Given the description of an element on the screen output the (x, y) to click on. 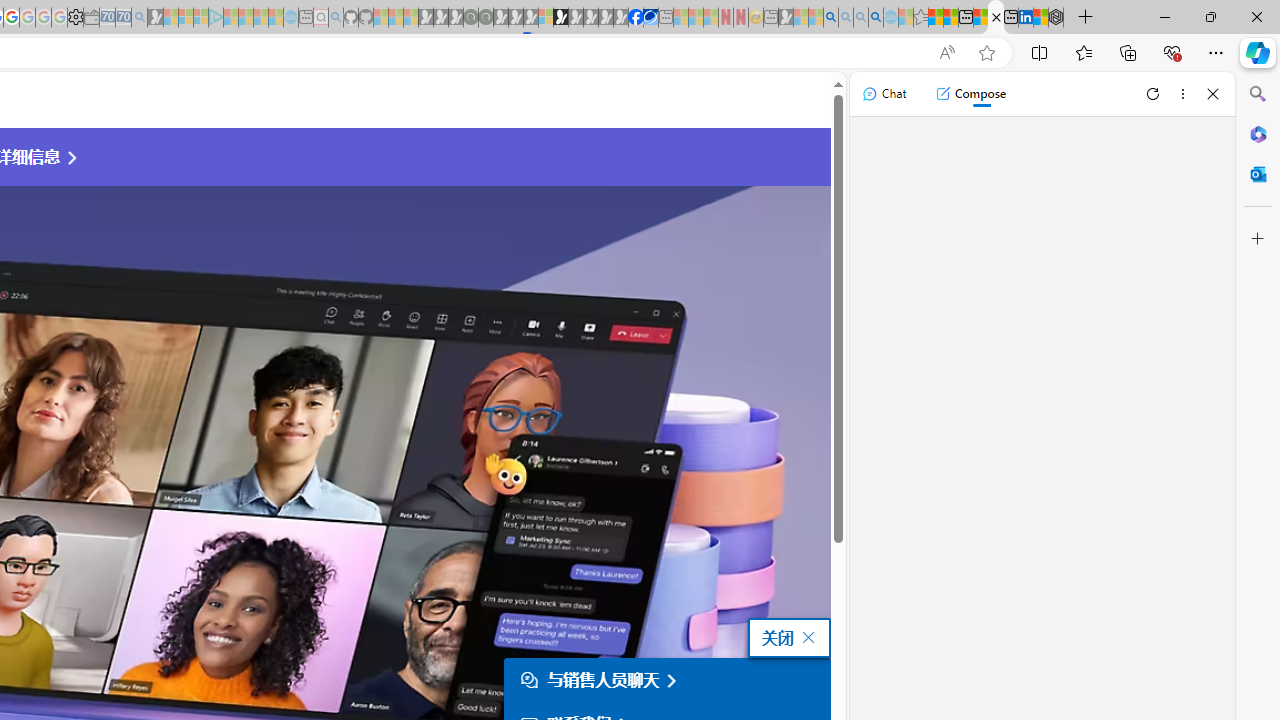
Compose (970, 93)
Aberdeen, Hong Kong SAR weather forecast | Microsoft Weather (950, 17)
Bing Real Estate - Home sales and rental listings - Sleeping (139, 17)
